Given the description of an element on the screen output the (x, y) to click on. 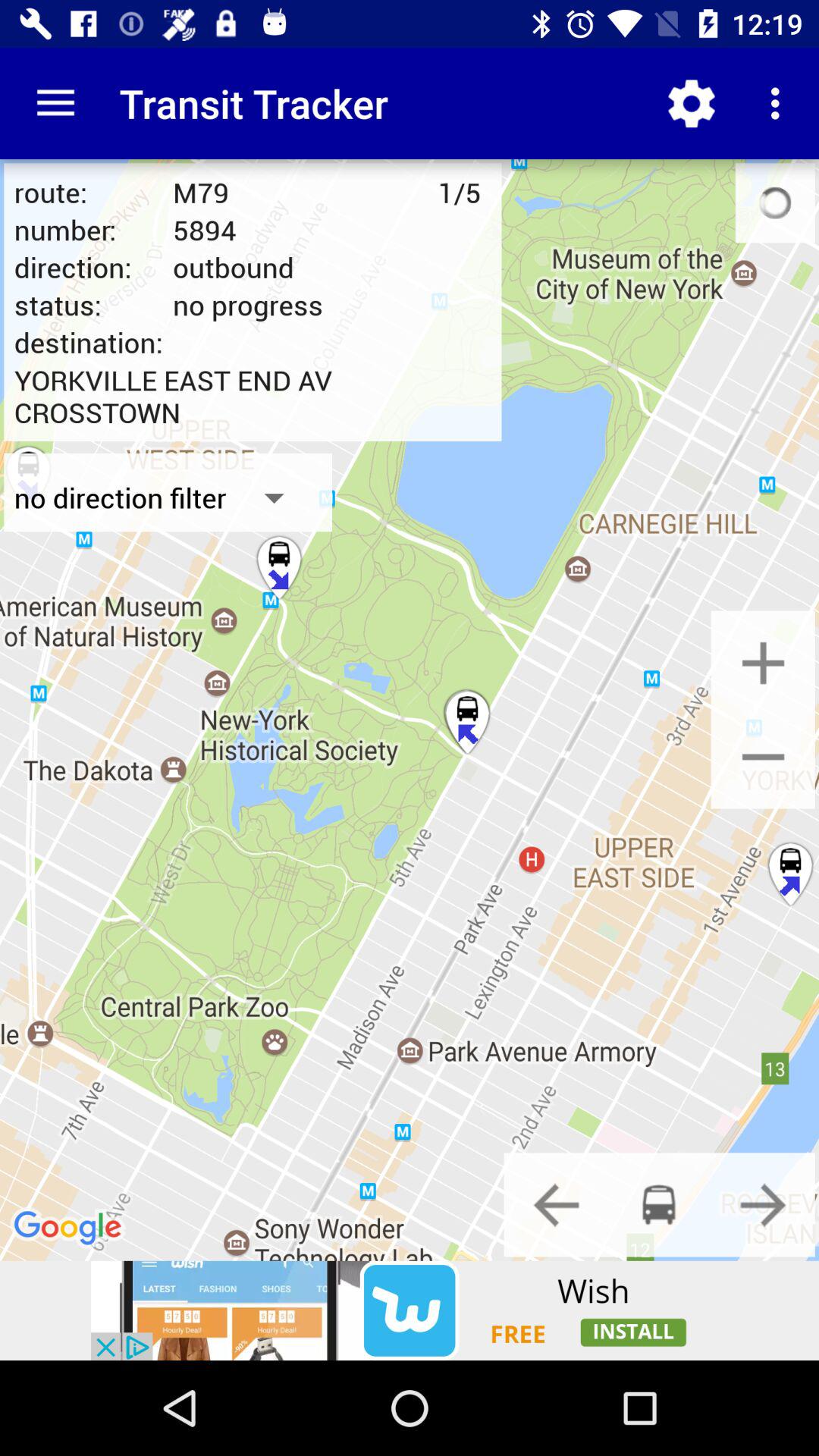
select mode of transport (659, 1204)
